Given the description of an element on the screen output the (x, y) to click on. 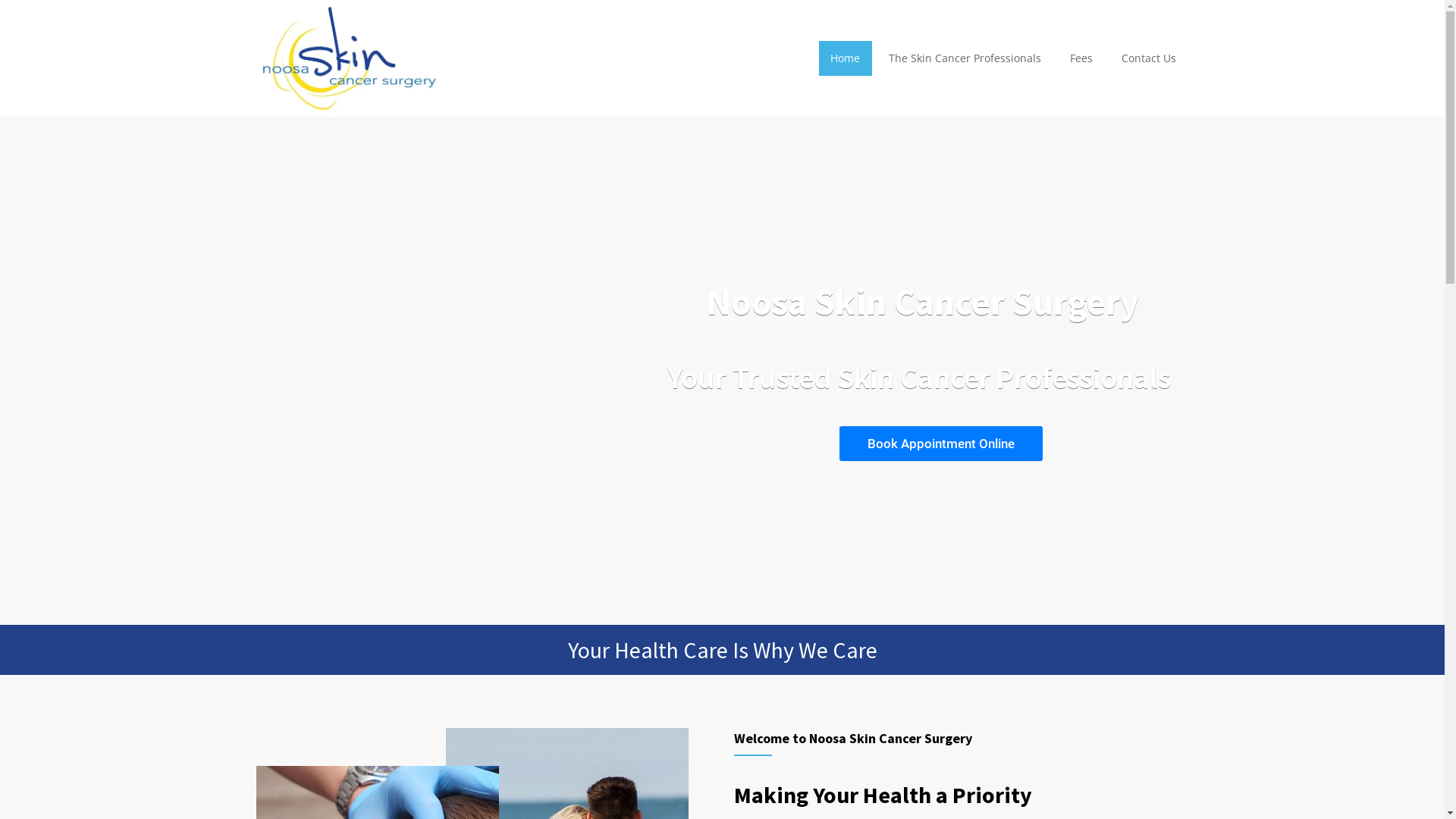
Home Element type: text (844, 58)
Contact Us Element type: text (1148, 58)
Book Appointment Online Element type: text (939, 443)
Fees Element type: text (1080, 58)
The Skin Cancer Professionals Element type: text (965, 58)
